Given the description of an element on the screen output the (x, y) to click on. 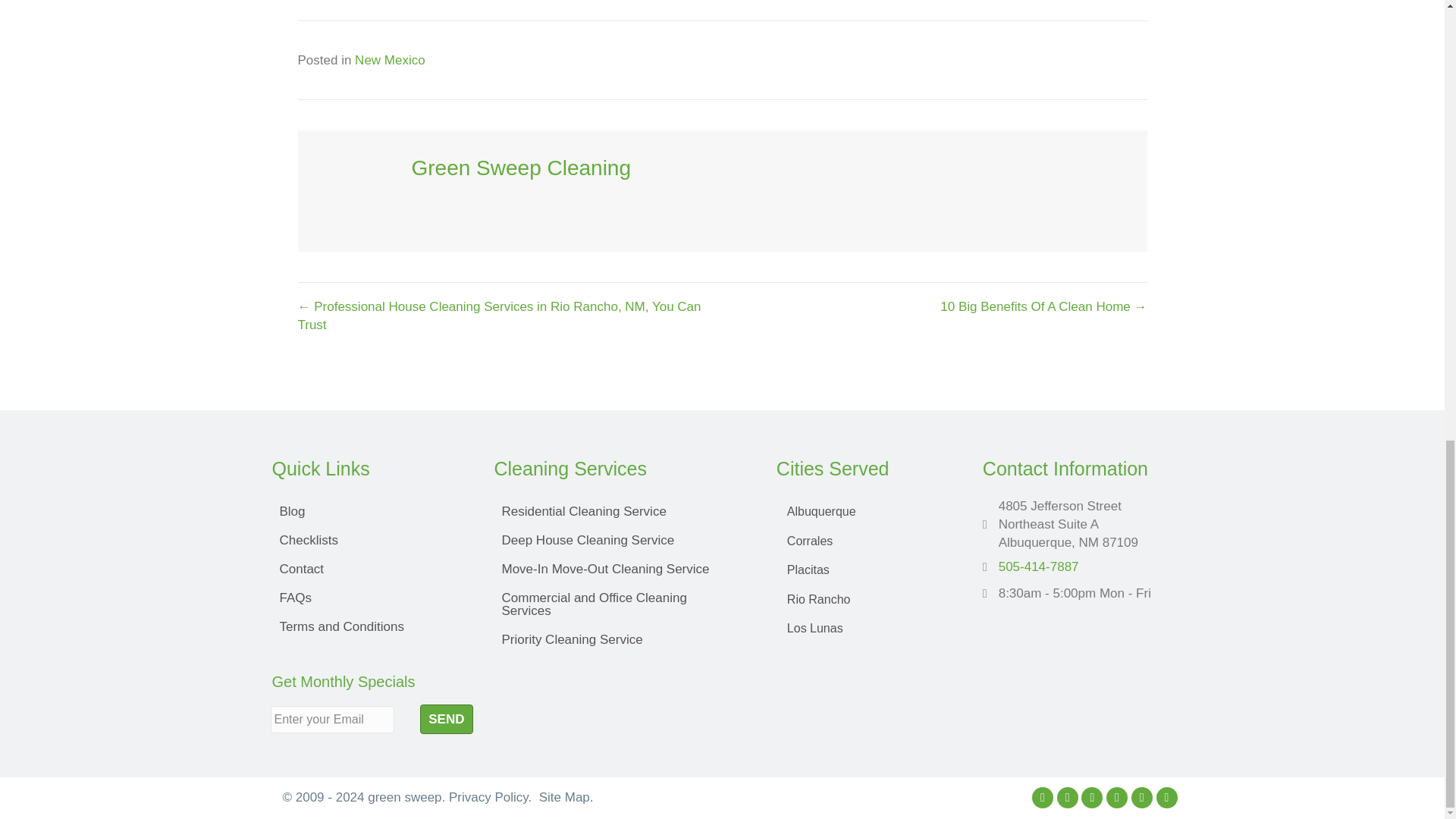
FAQs (366, 597)
Send (445, 718)
New Mexico (390, 60)
Send (445, 718)
Terms and Conditions (366, 626)
Deep House Cleaning Service (620, 540)
Move-In Move-Out Cleaning Service (620, 569)
Checklists (366, 540)
Albuquerque (864, 511)
Commercial and Office Cleaning Services (620, 603)
Blog (366, 511)
Priority Cleaning Service (620, 639)
Contact (366, 569)
Checklists (366, 540)
Blog (366, 511)
